Given the description of an element on the screen output the (x, y) to click on. 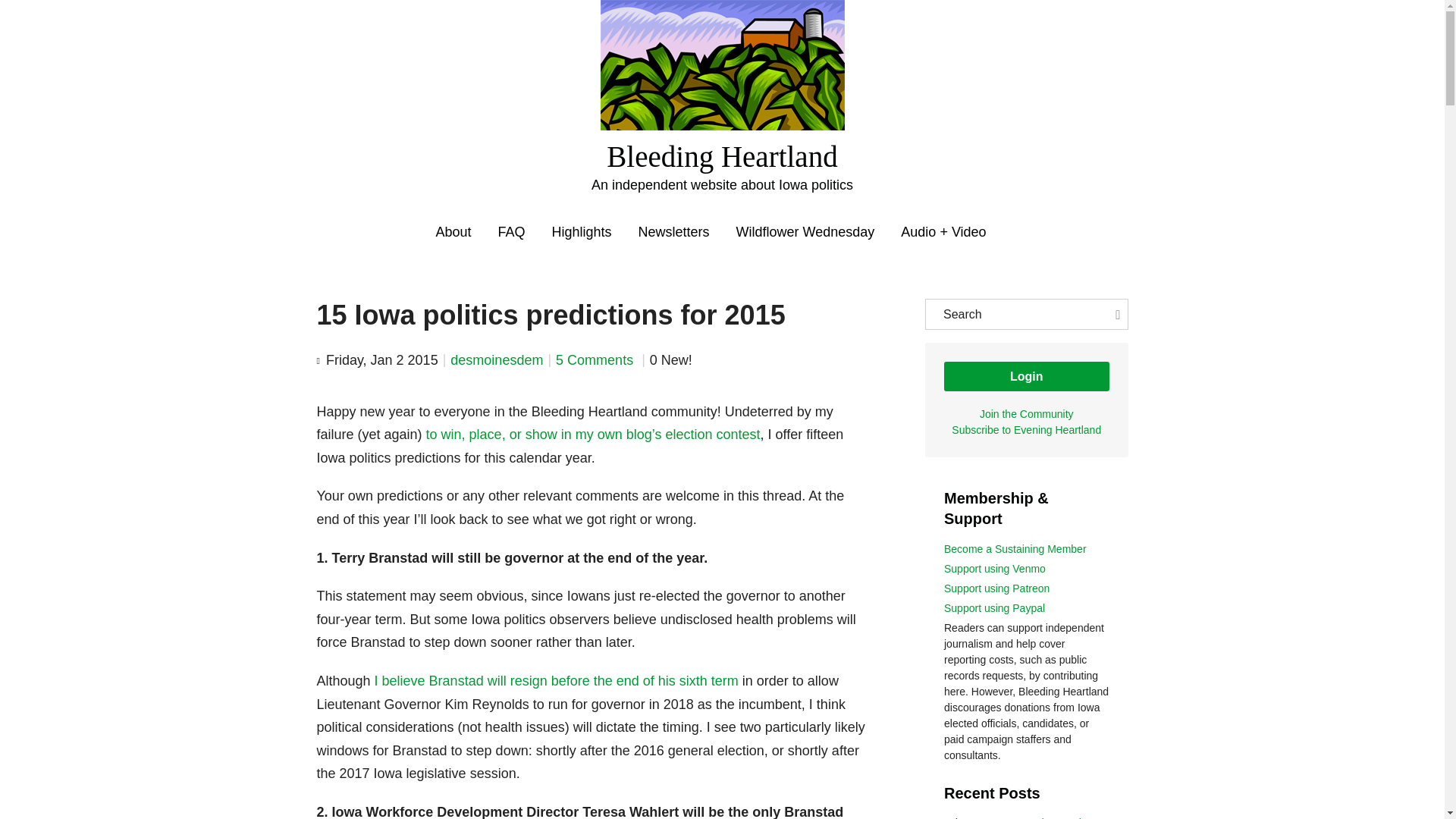
5 Comments (596, 359)
Wildflower Wednesday (805, 231)
desmoinesdem (496, 359)
FAQ (510, 231)
Posts by desmoinesdem (496, 359)
comments (596, 359)
About (452, 231)
Highlights (581, 231)
Newsletters (674, 231)
